Given the description of an element on the screen output the (x, y) to click on. 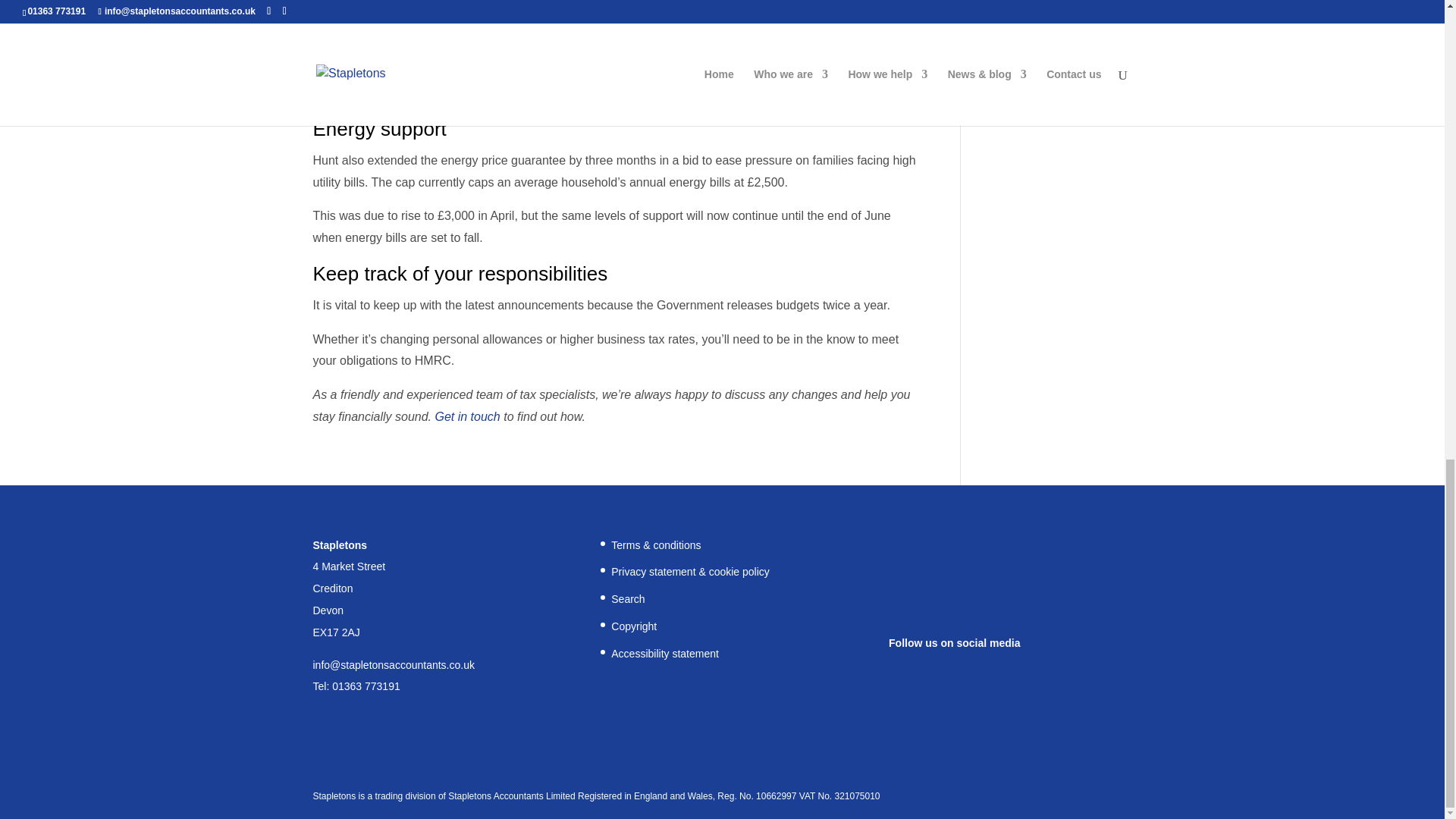
Email Stapletons (393, 664)
